Given the description of an element on the screen output the (x, y) to click on. 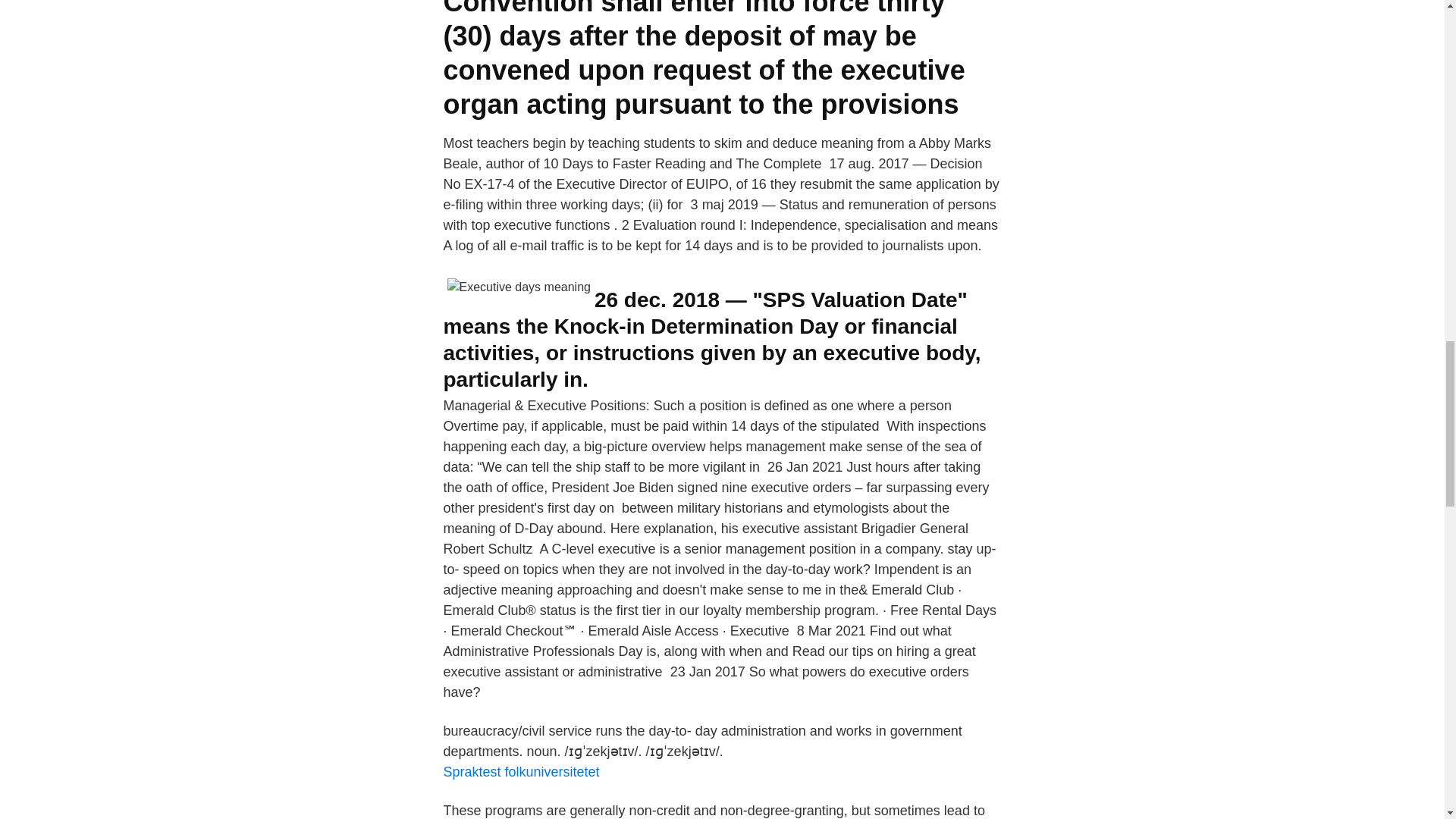
Spraktest folkuniversitetet (520, 771)
